Given the description of an element on the screen output the (x, y) to click on. 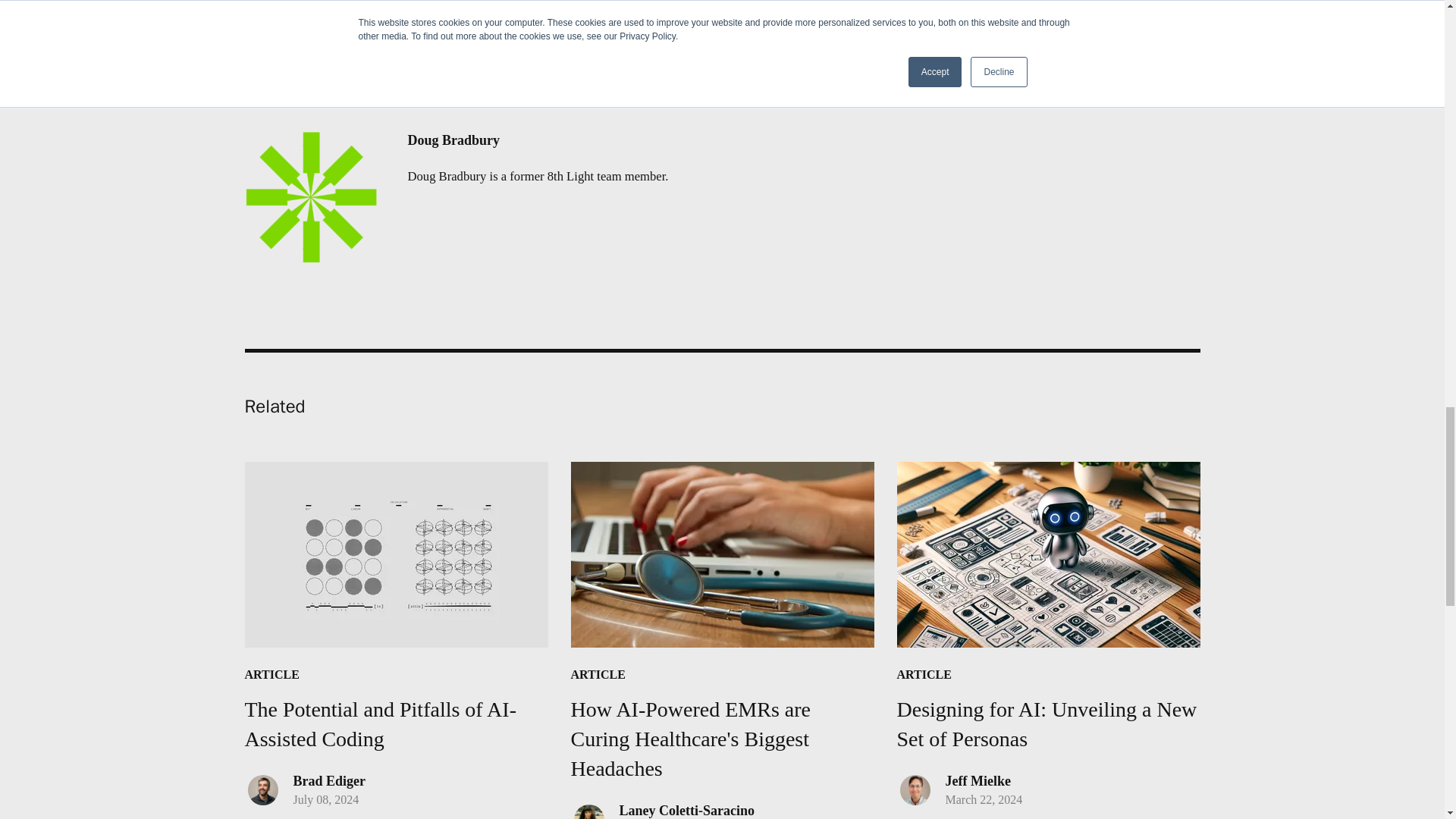
Jeff Mielke (1047, 607)
Doug Bradbury (977, 780)
Laney Coletti-Saracino (537, 140)
Brad Ediger (686, 810)
